Given the description of an element on the screen output the (x, y) to click on. 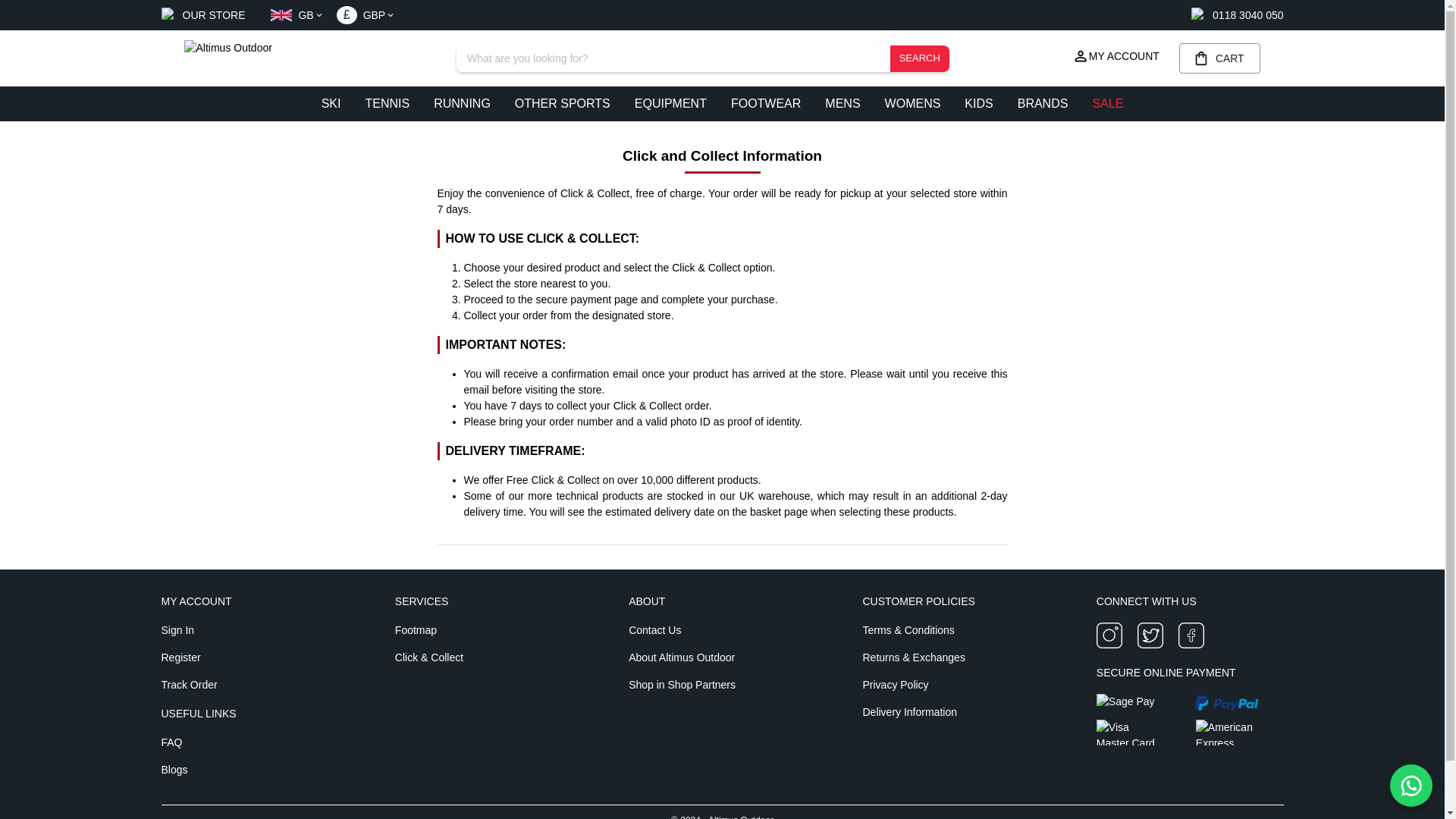
Register (253, 656)
CART (1219, 58)
BRANDS (1043, 103)
TENNIS (387, 103)
SEARCH (919, 58)
OTHER SPORTS (562, 103)
Footmap (488, 629)
Track Order (253, 683)
SALE (1107, 103)
KIDS (978, 103)
Contact Us (721, 629)
CART (1213, 58)
Sign In (253, 629)
RUNNING (462, 103)
EQUIPMENT (671, 103)
